Given the description of an element on the screen output the (x, y) to click on. 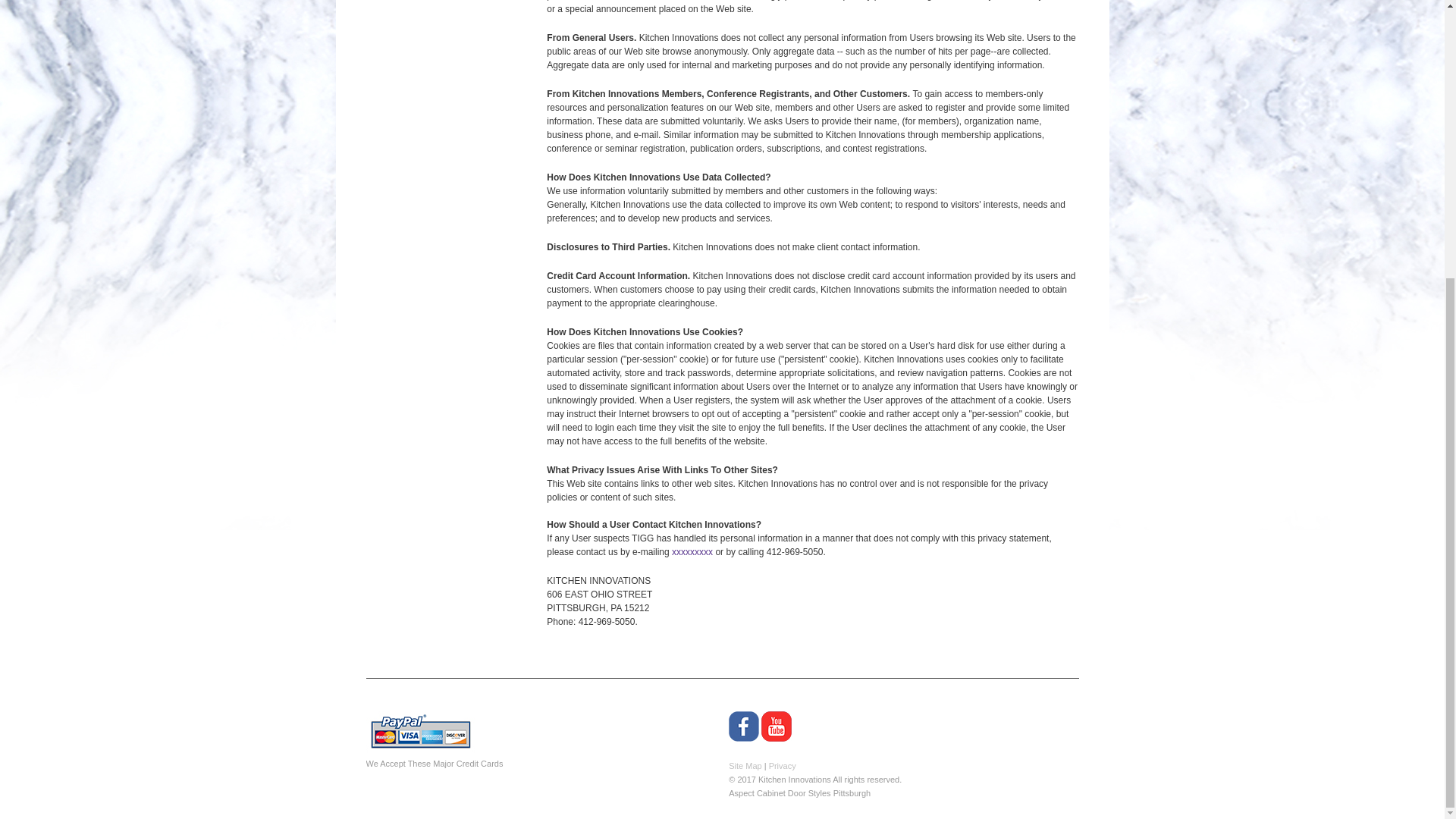
xxxxxxxxx (692, 552)
Privacy (782, 765)
Site Map (745, 765)
